Given the description of an element on the screen output the (x, y) to click on. 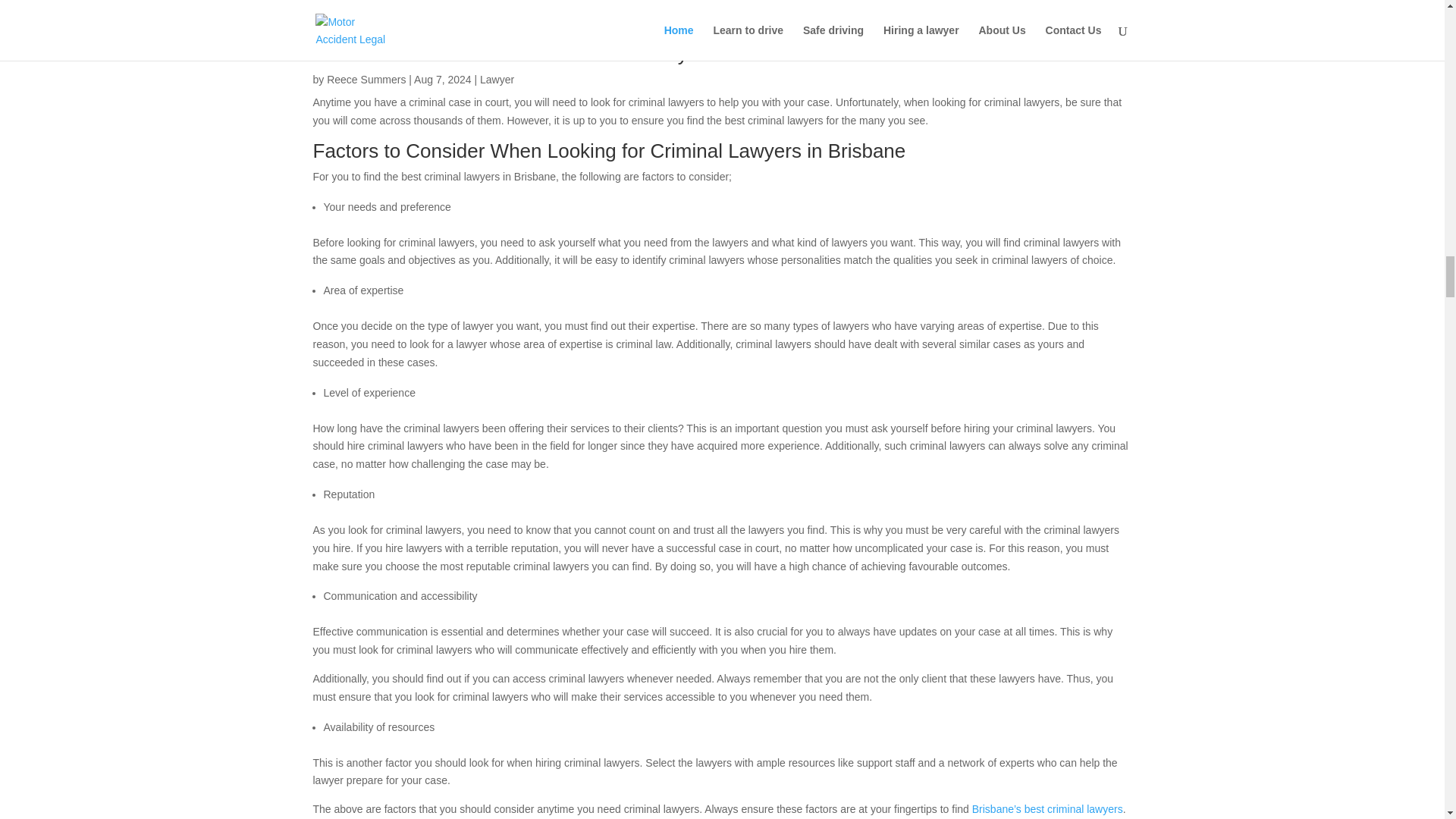
Reece Summers (366, 79)
Lawyer (496, 79)
How Can One Find the Best Criminal Lawyers in Brisbane? (571, 53)
